Given the description of an element on the screen output the (x, y) to click on. 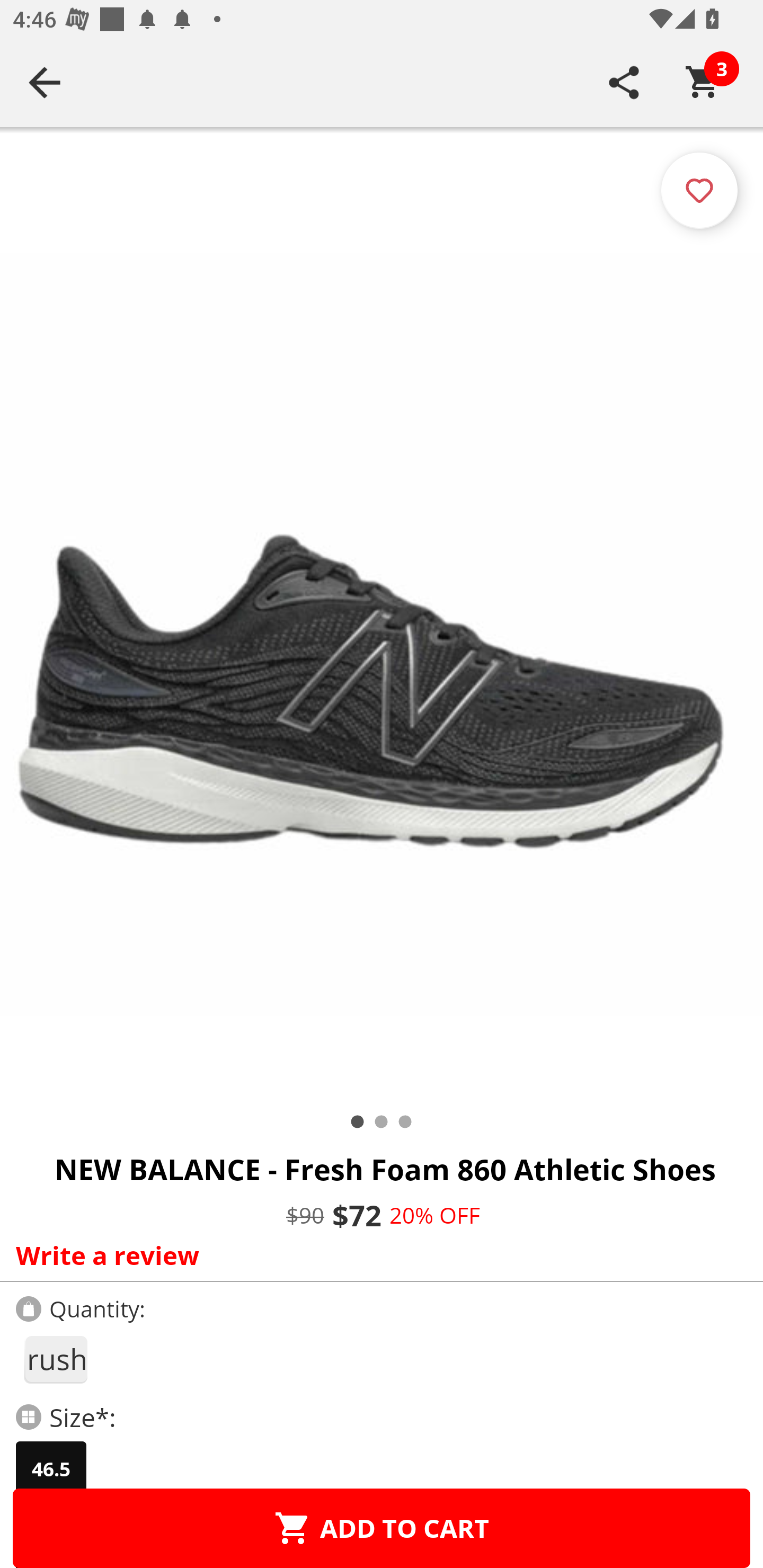
Navigate up (44, 82)
SHARE (623, 82)
Cart (703, 81)
Write a review (377, 1255)
1notebooktoothbrush (55, 1358)
46.5 (51, 1468)
ADD TO CART (381, 1528)
